Given the description of an element on the screen output the (x, y) to click on. 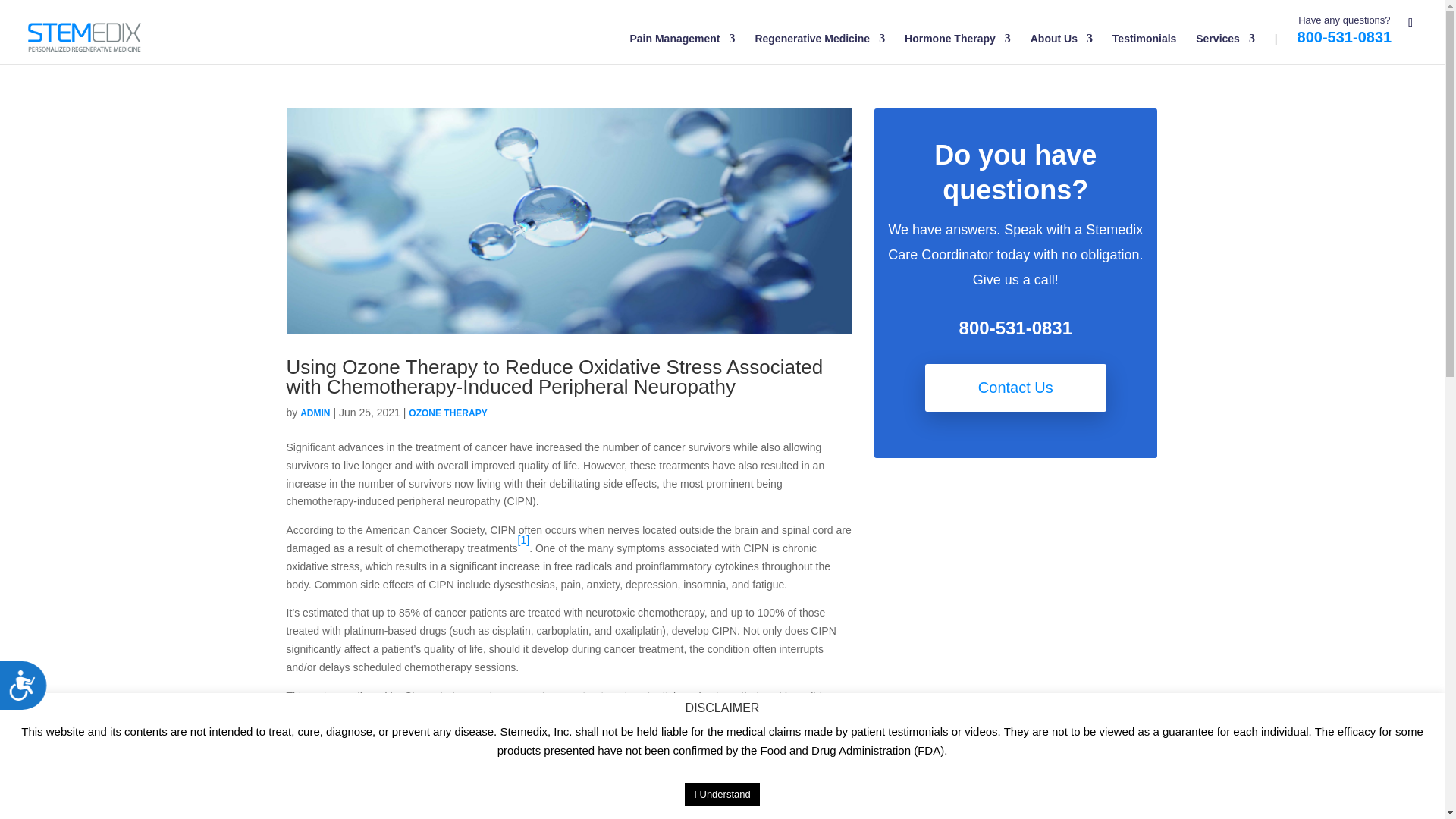
Regenerative Medicine (819, 48)
Accessibility (29, 690)
Pain Management (681, 48)
Posts by admin (314, 412)
